Given the description of an element on the screen output the (x, y) to click on. 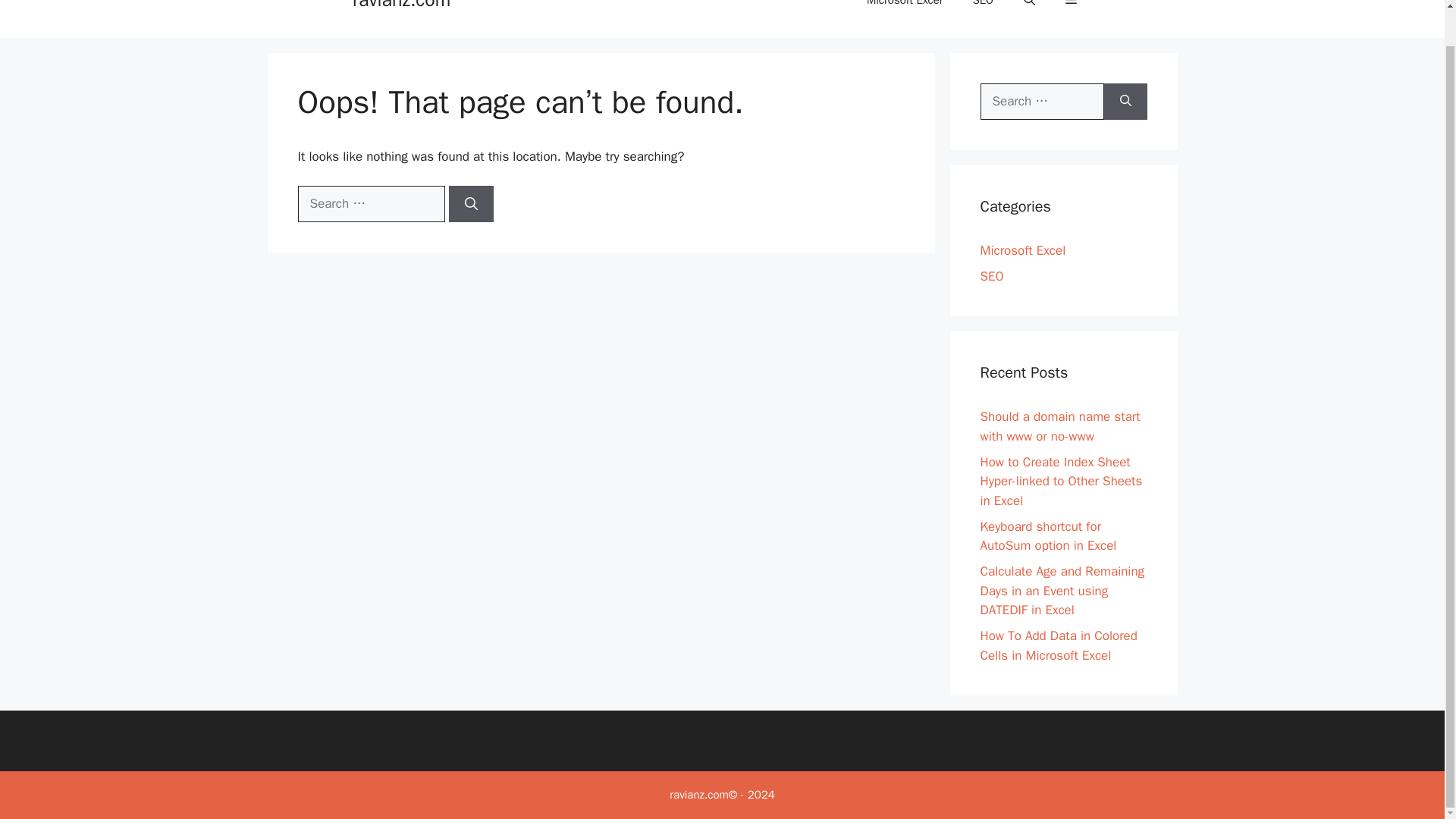
How To Add Data in Colored Cells in Microsoft Excel (1058, 645)
Keyboard shortcut for AutoSum option in Excel (1047, 536)
Microsoft Excel (1022, 250)
Should a domain name start with www or no-www (1059, 426)
Search for: (1041, 101)
Microsoft Excel (903, 11)
SEO (982, 11)
SEO (991, 276)
Search for: (370, 203)
